Given the description of an element on the screen output the (x, y) to click on. 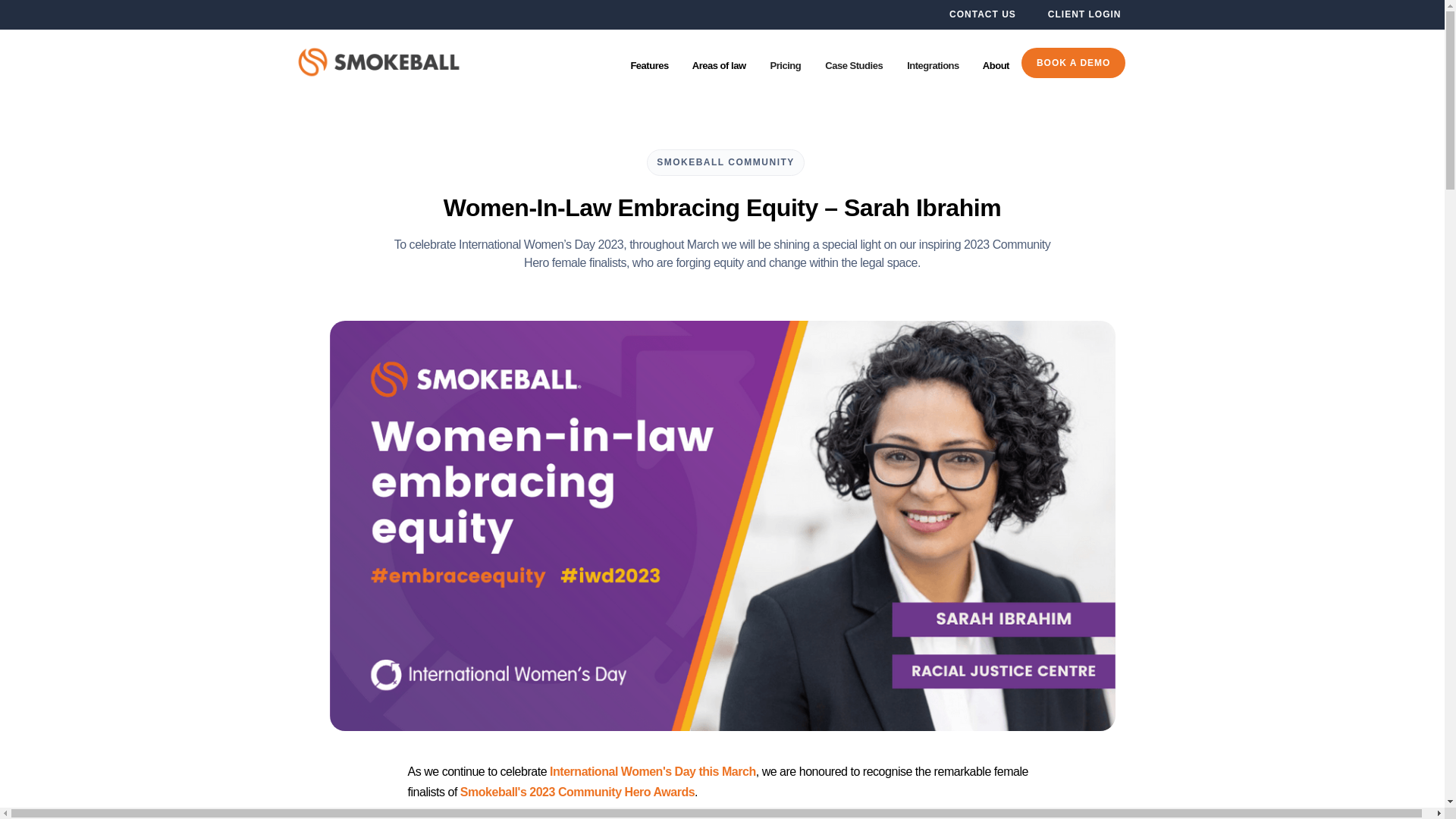
Case Studies (853, 66)
CLIENT LOGIN (1083, 14)
Features (648, 66)
Integrations (933, 66)
Pricing (785, 66)
About (996, 66)
Areas of law (719, 66)
CONTACT US (981, 14)
